Given the description of an element on the screen output the (x, y) to click on. 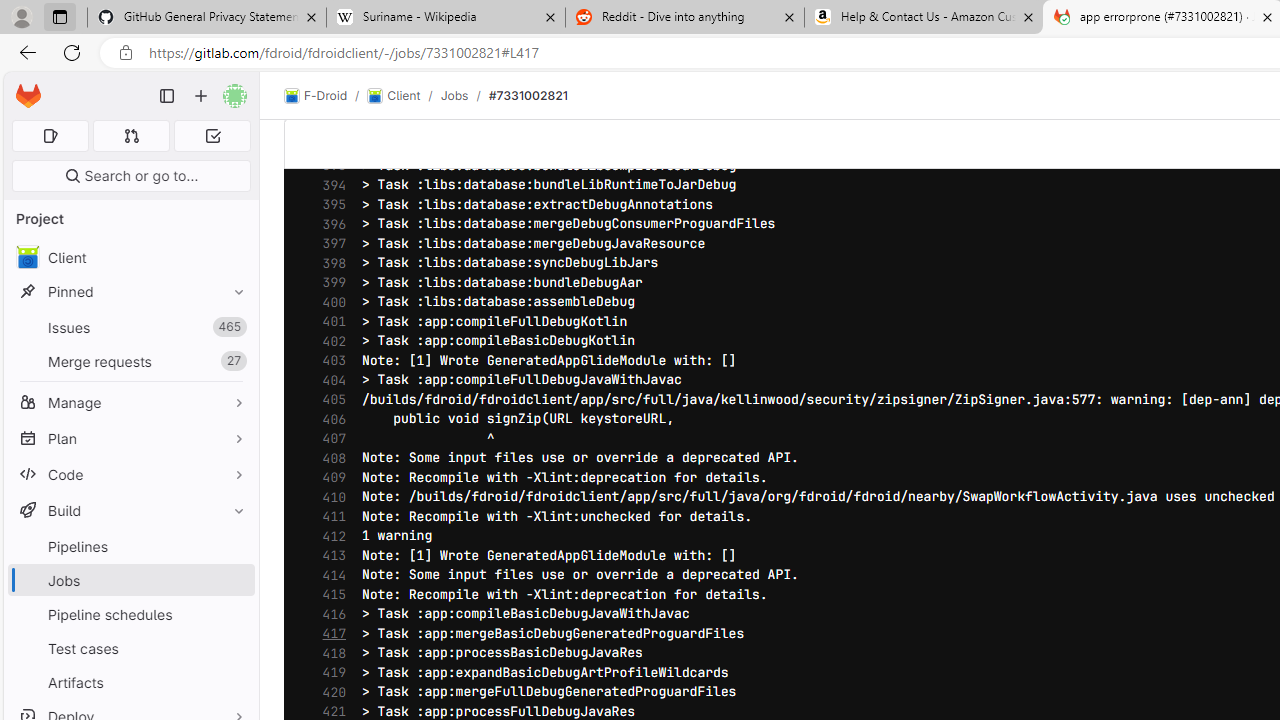
Pipelines (130, 546)
F-Droid (316, 96)
Primary navigation sidebar (167, 96)
418 (329, 652)
392 (329, 146)
Homepage (27, 96)
Plan (130, 438)
396 (329, 223)
Help & Contact Us - Amazon Customer Service (924, 17)
#7331002821 (527, 95)
Test cases (130, 648)
#7331002821 (527, 95)
399 (329, 282)
Client/ (404, 96)
